Given the description of an element on the screen output the (x, y) to click on. 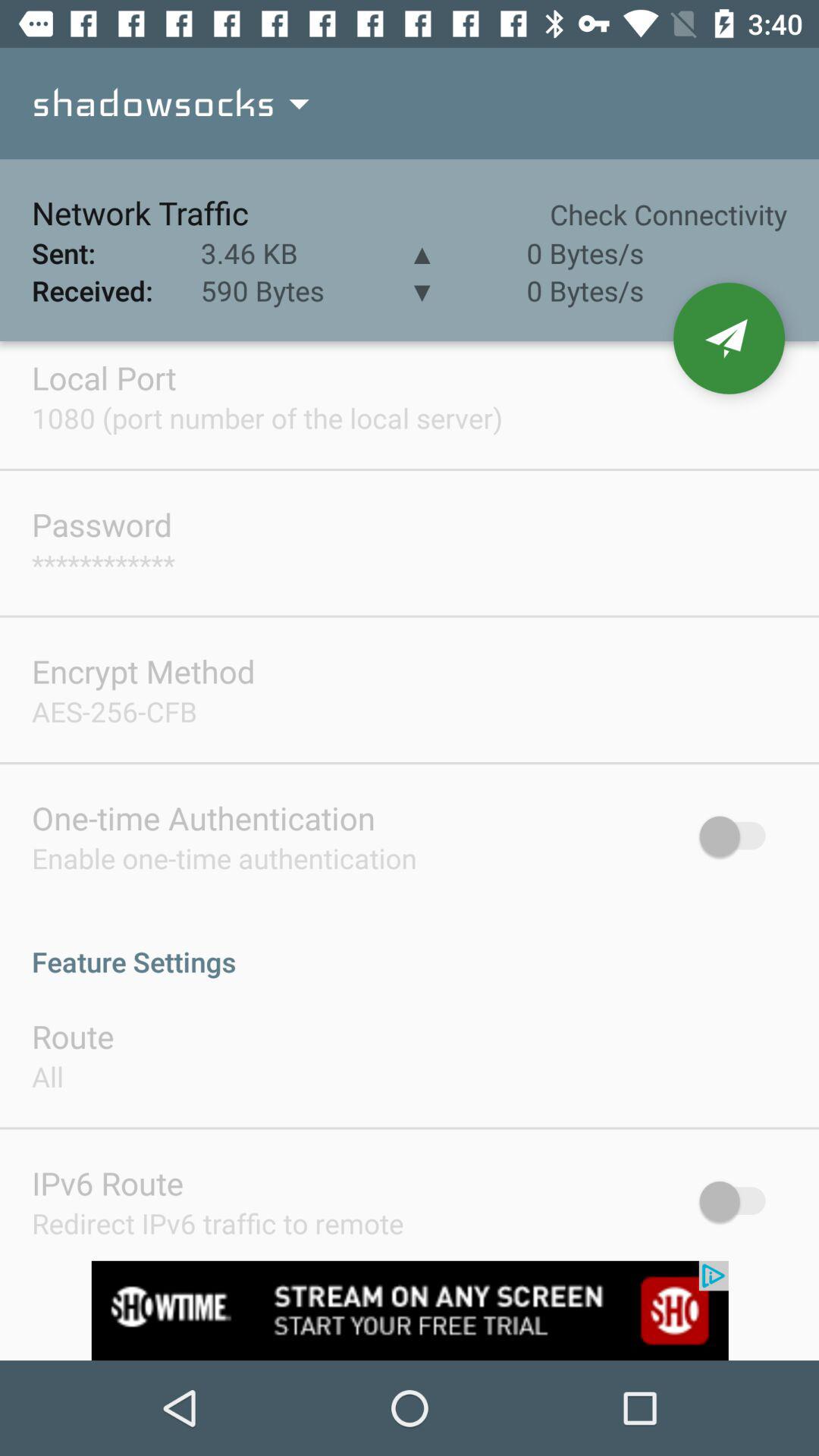
send (728, 338)
